Given the description of an element on the screen output the (x, y) to click on. 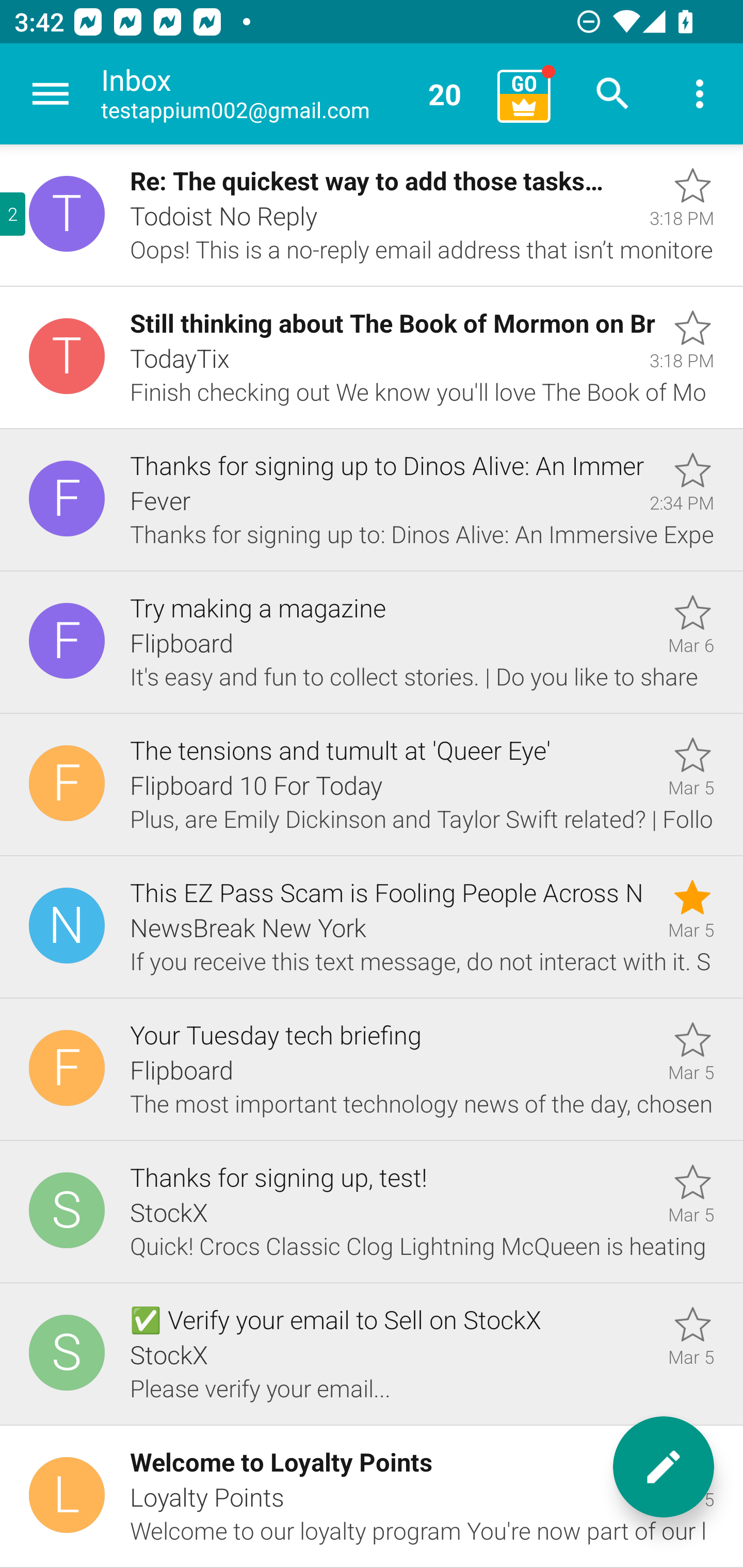
Navigate up (50, 93)
Inbox testappium002@gmail.com 20 (291, 93)
Search (612, 93)
More options (699, 93)
New message (663, 1466)
